Given the description of an element on the screen output the (x, y) to click on. 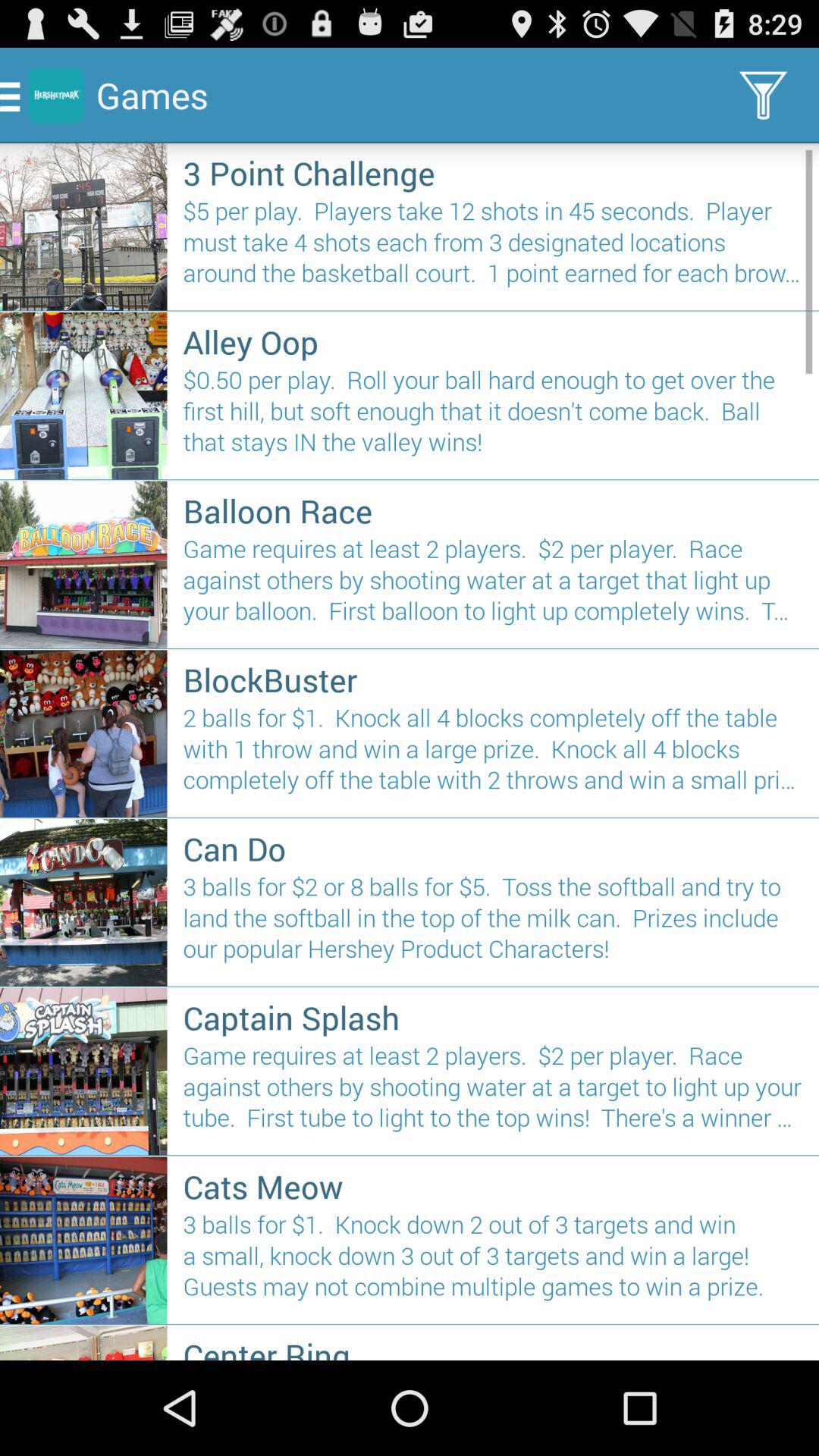
turn on the item below the game requires at (493, 1186)
